Given the description of an element on the screen output the (x, y) to click on. 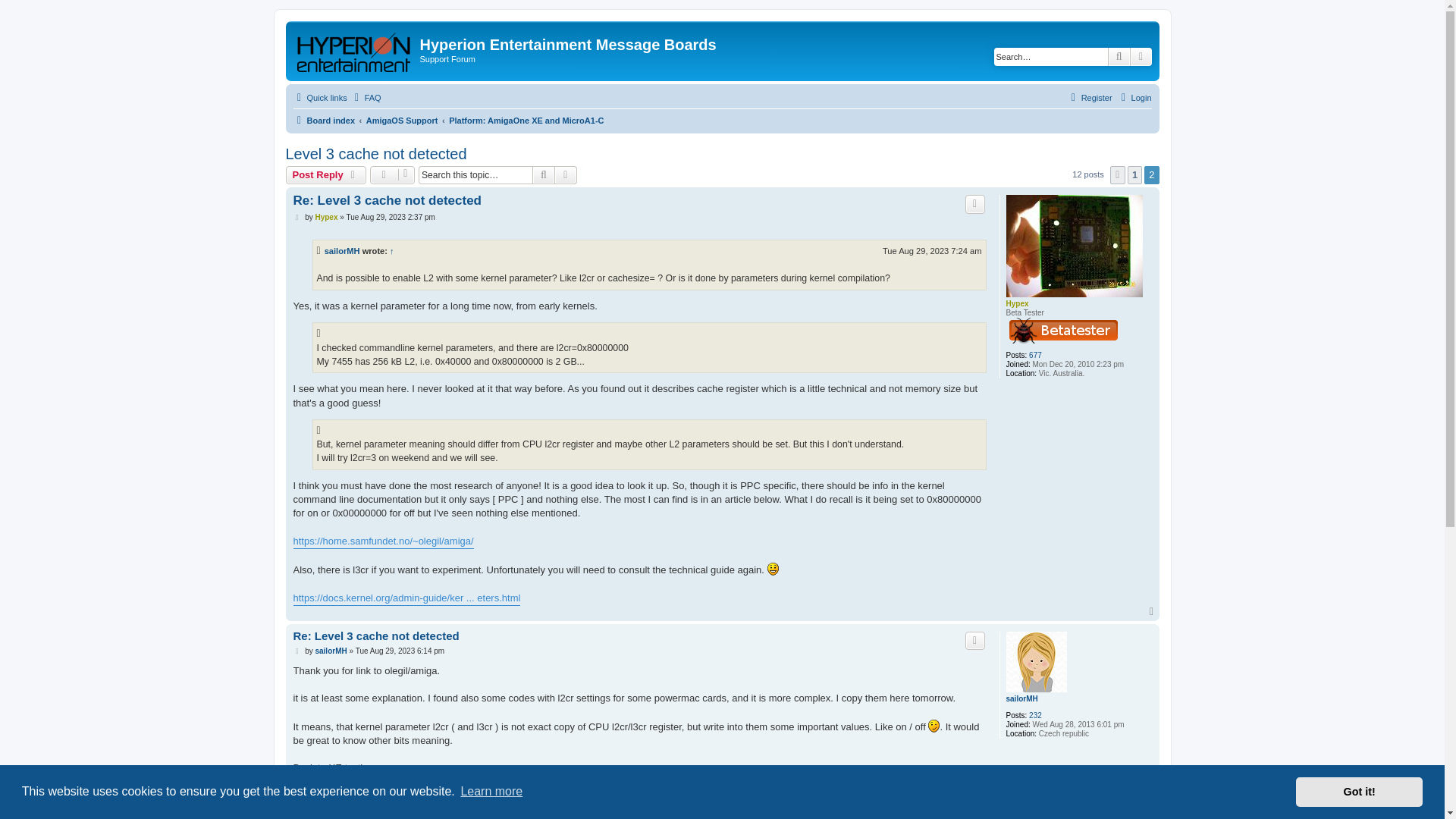
Search (543, 175)
Post Reply (325, 175)
Re: Level 3 cache not detected (386, 200)
Reply with quote (975, 203)
Search (543, 175)
Beta Tester (1062, 330)
Hypex (1016, 303)
Topic tools (391, 175)
Post (297, 216)
Advanced search (1141, 56)
Board index (323, 120)
AmigaOS Support (402, 120)
FAQ (365, 97)
Register (1089, 97)
Level 3 cache not detected (375, 153)
